Given the description of an element on the screen output the (x, y) to click on. 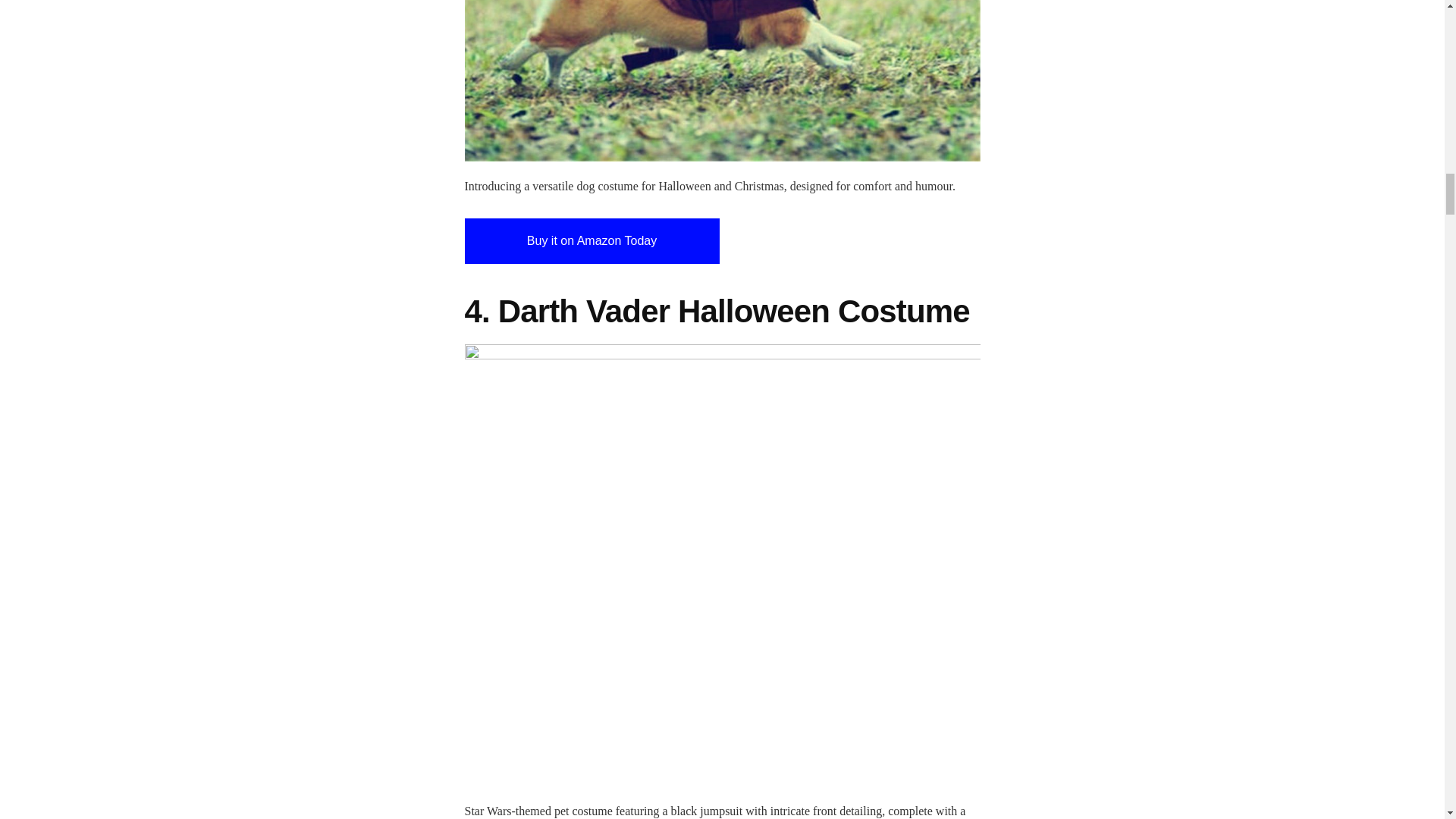
Buy it on Amazon Today (591, 240)
